Given the description of an element on the screen output the (x, y) to click on. 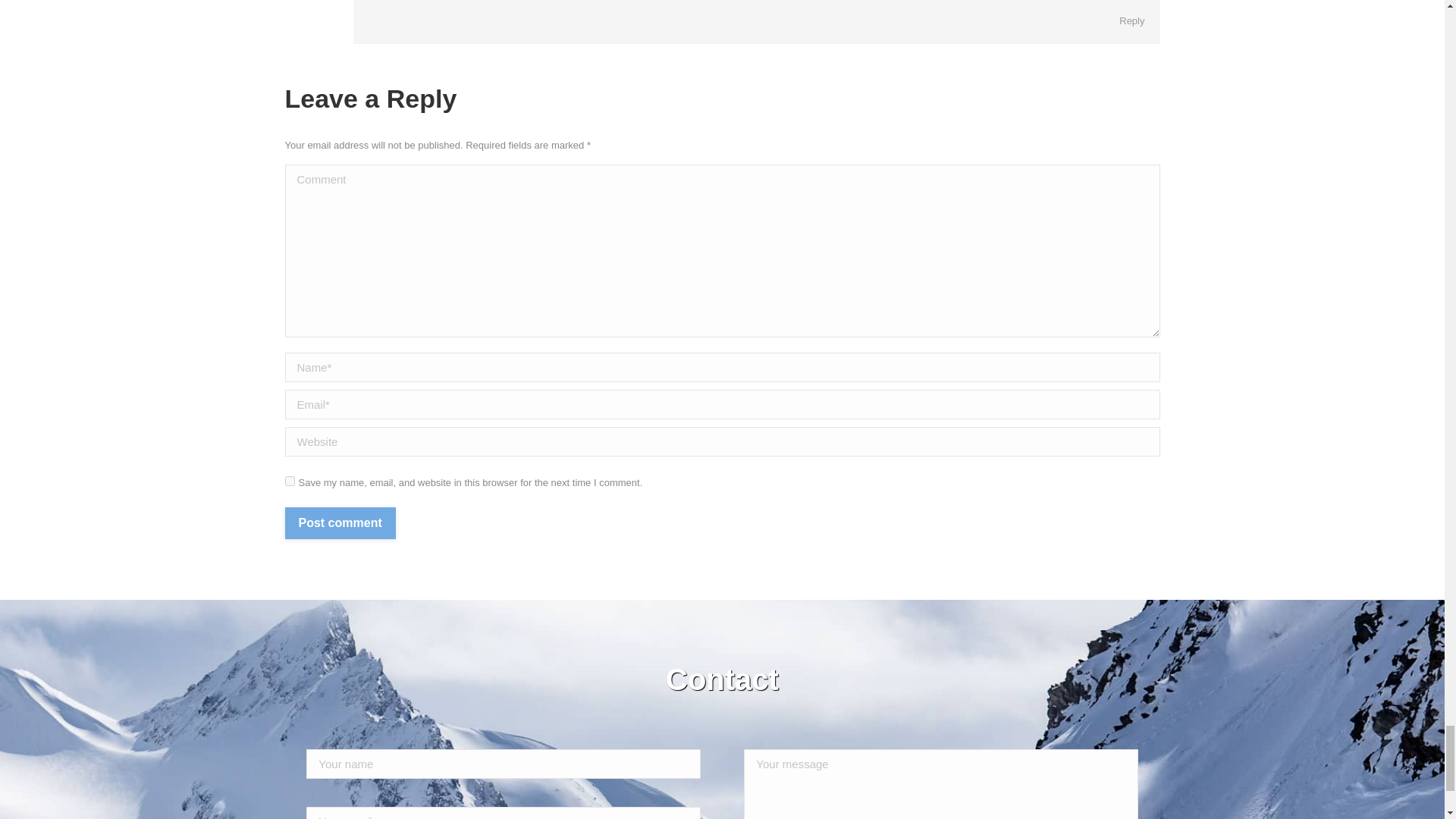
yes (290, 480)
